Given the description of an element on the screen output the (x, y) to click on. 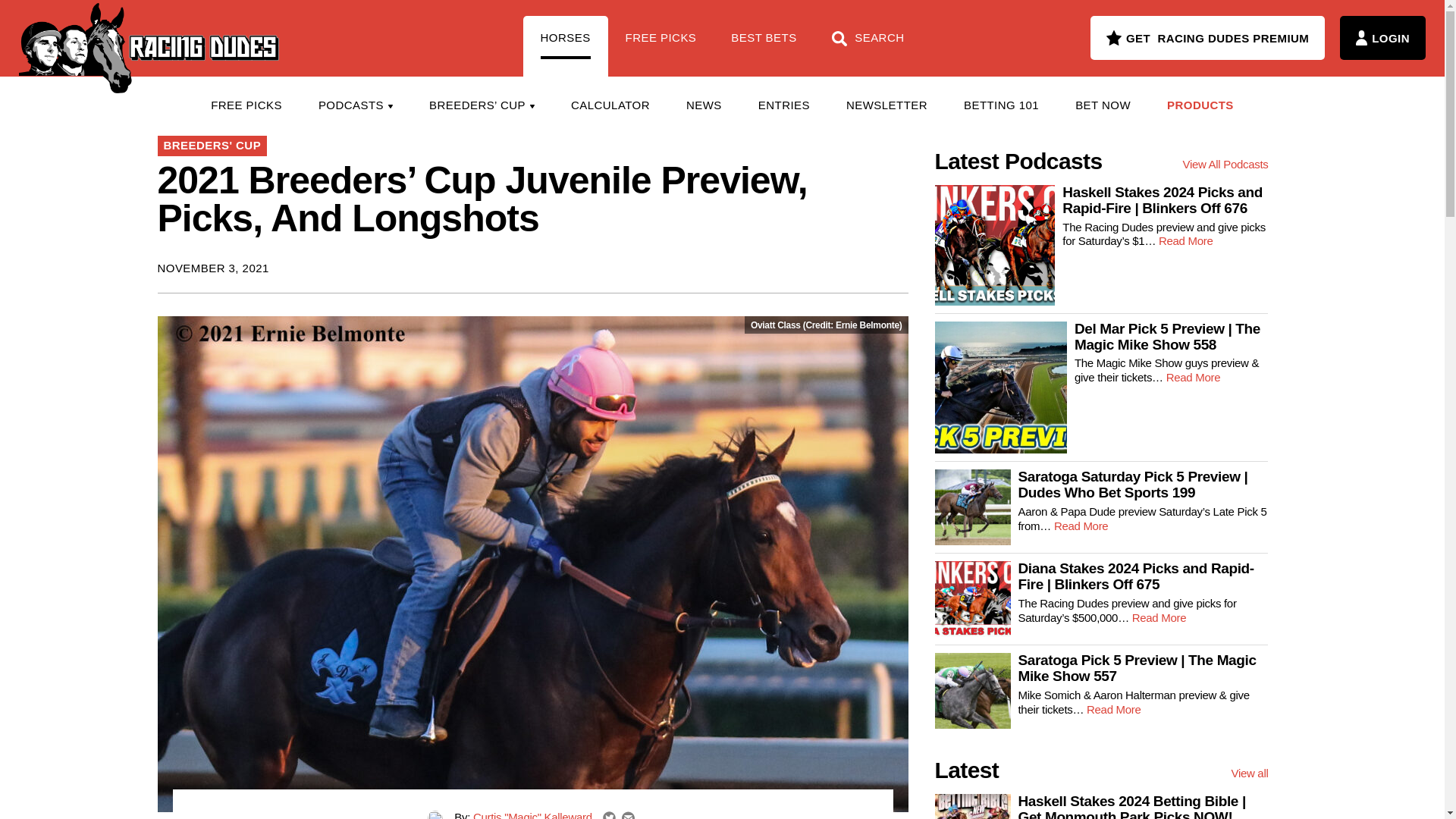
LOGIN (1382, 37)
 SEARCH (867, 45)
FREE PICKS (661, 45)
HORSES (565, 45)
FREE PICKS (245, 105)
BEST BETS (763, 45)
GET  RACING DUDES PREMIUM (1207, 37)
Posts by Curtis "Magic" Kalleward (532, 814)
PODCASTS (354, 105)
